Given the description of an element on the screen output the (x, y) to click on. 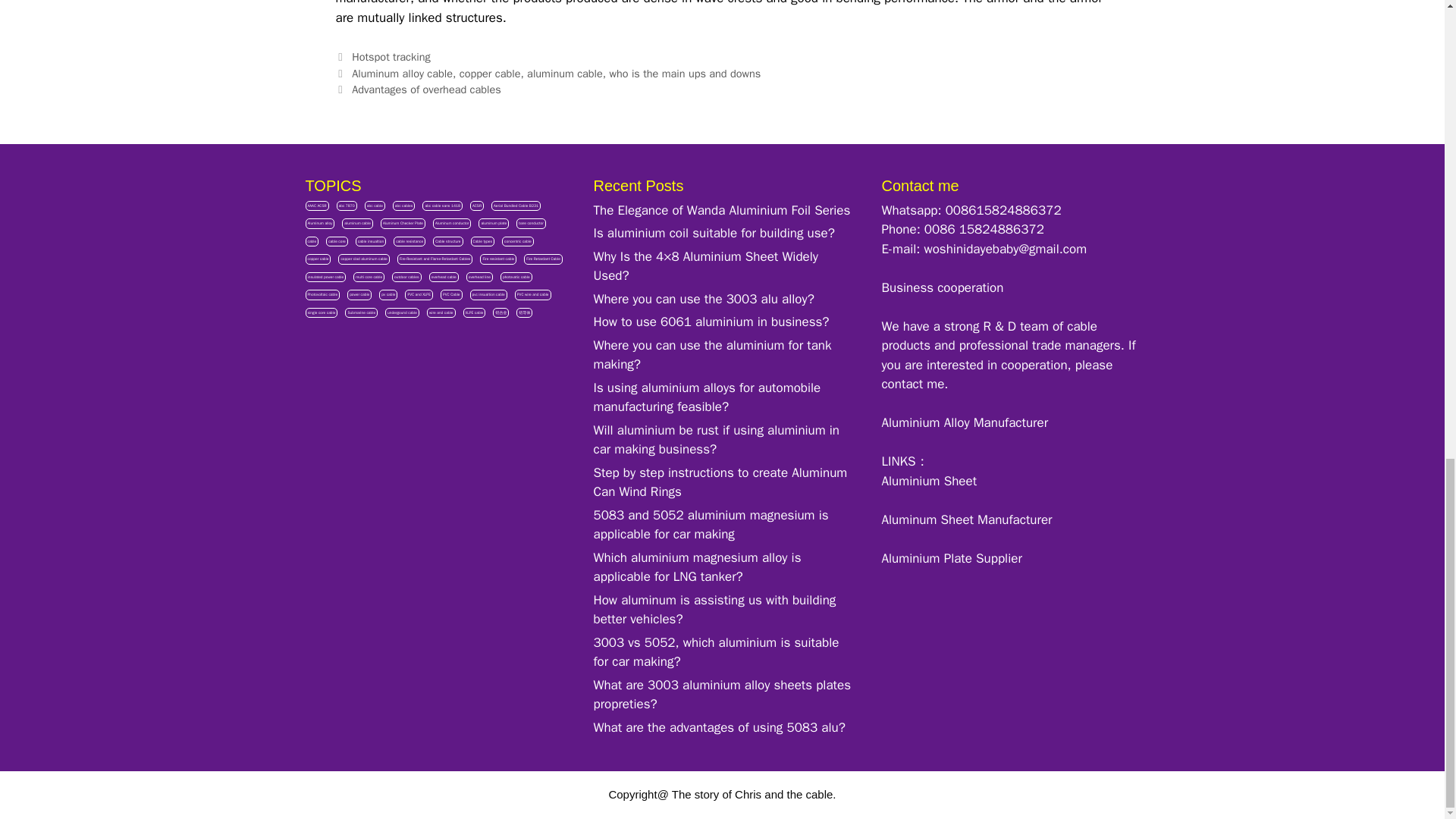
copper clad aluminum cable (362, 258)
bare conductor (531, 223)
Cable structure (447, 241)
cable (311, 241)
Next (417, 89)
Fire resistant cable (498, 258)
Aluminum Checker Plate (402, 223)
cable resistance (409, 241)
ACSR (476, 205)
abc cable (375, 205)
Aluminum alloy (319, 223)
cable insualtion (370, 241)
aluminum plate (493, 223)
Aerial Bundled Cable B231 (516, 205)
